Given the description of an element on the screen output the (x, y) to click on. 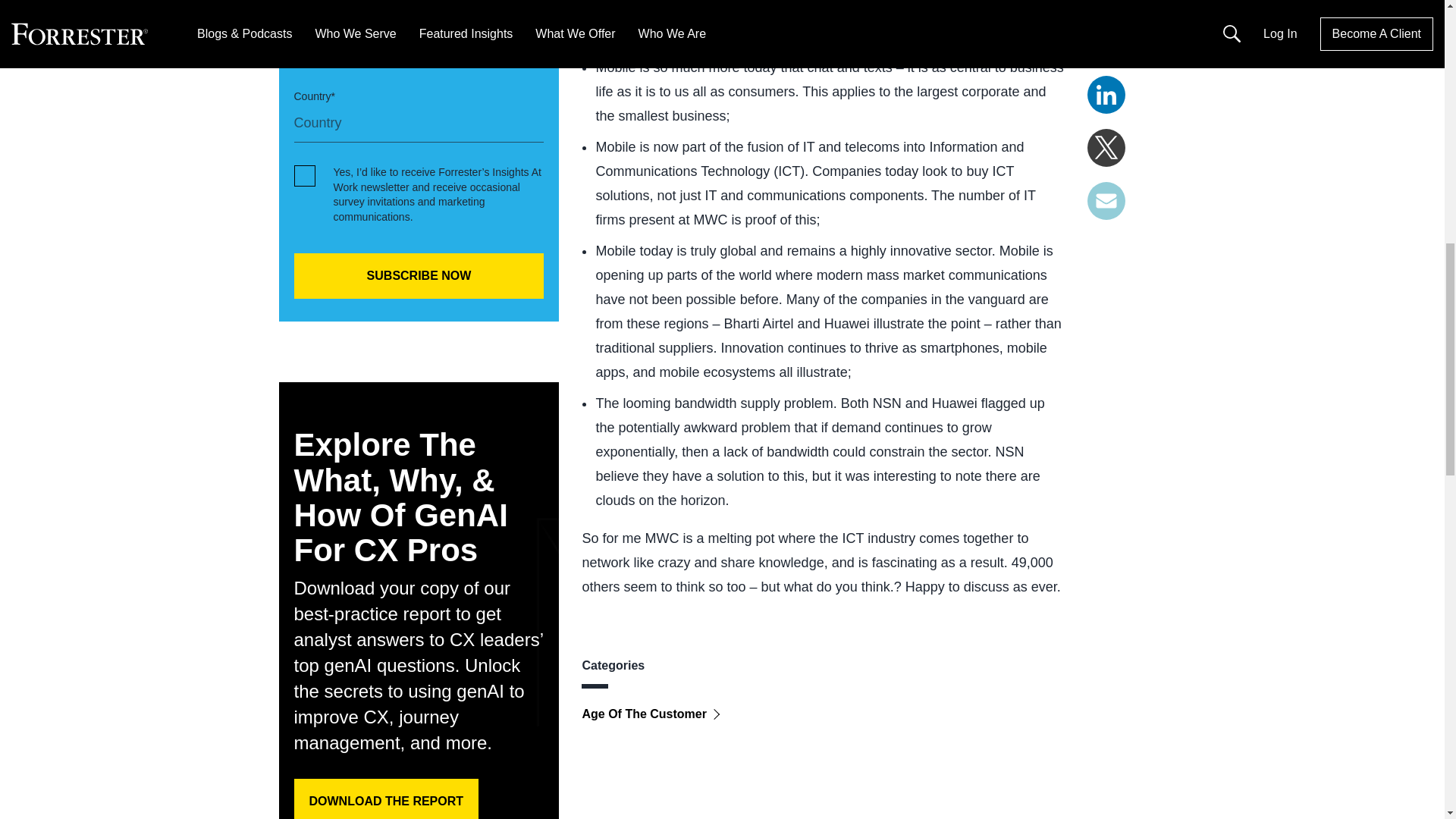
Subscribe Now (419, 275)
